Given the description of an element on the screen output the (x, y) to click on. 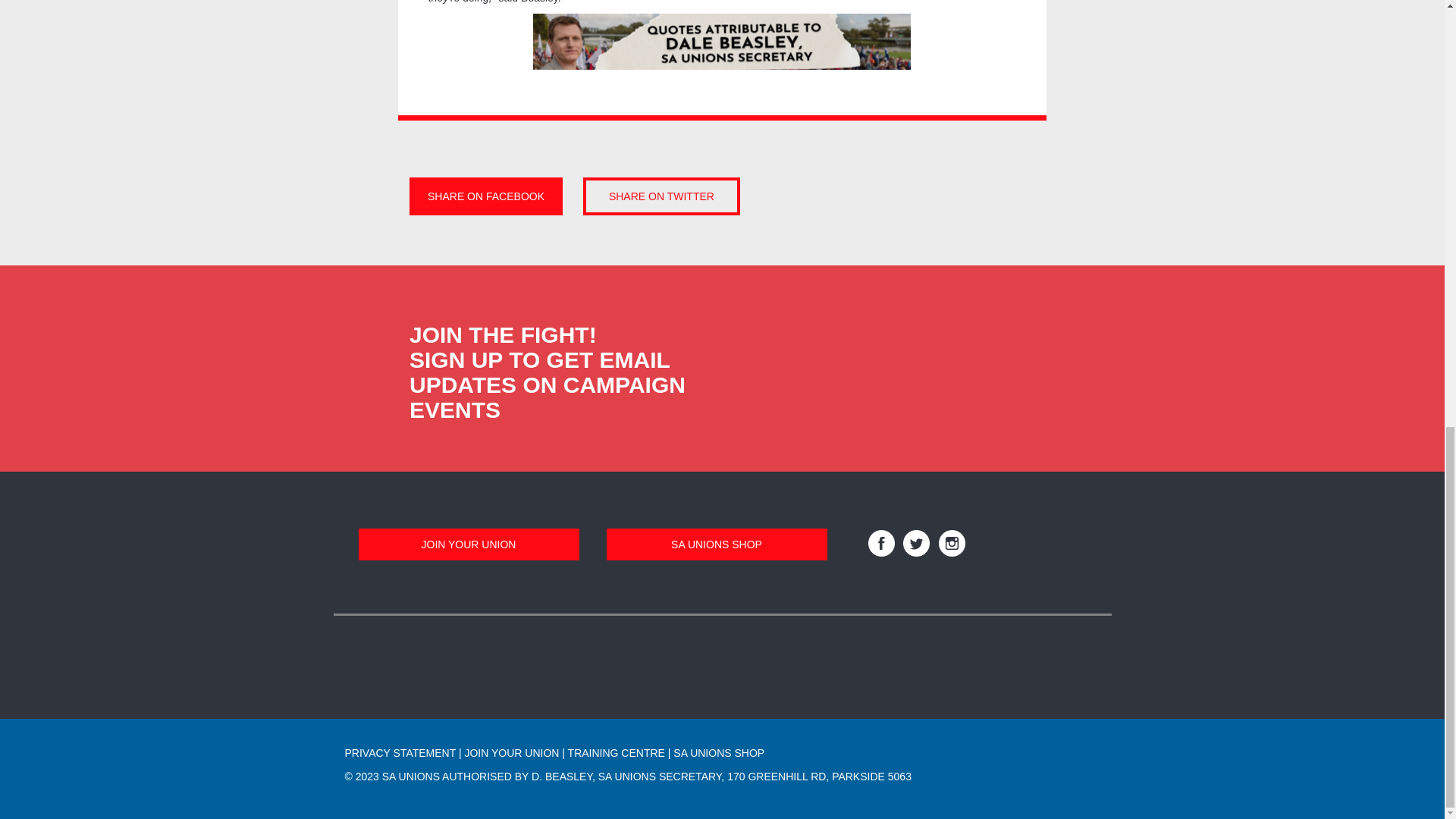
SHARE ON TWITTER (661, 196)
SA UNIONS SHOP (717, 544)
PRIVACY STATEMENT (399, 752)
JOIN YOUR UNION (511, 752)
JOIN YOUR UNION (468, 544)
TRAINING CENTRE (616, 752)
SA UNIONS SHOP (718, 752)
SHARE ON FACEBOOK (485, 196)
